Given the description of an element on the screen output the (x, y) to click on. 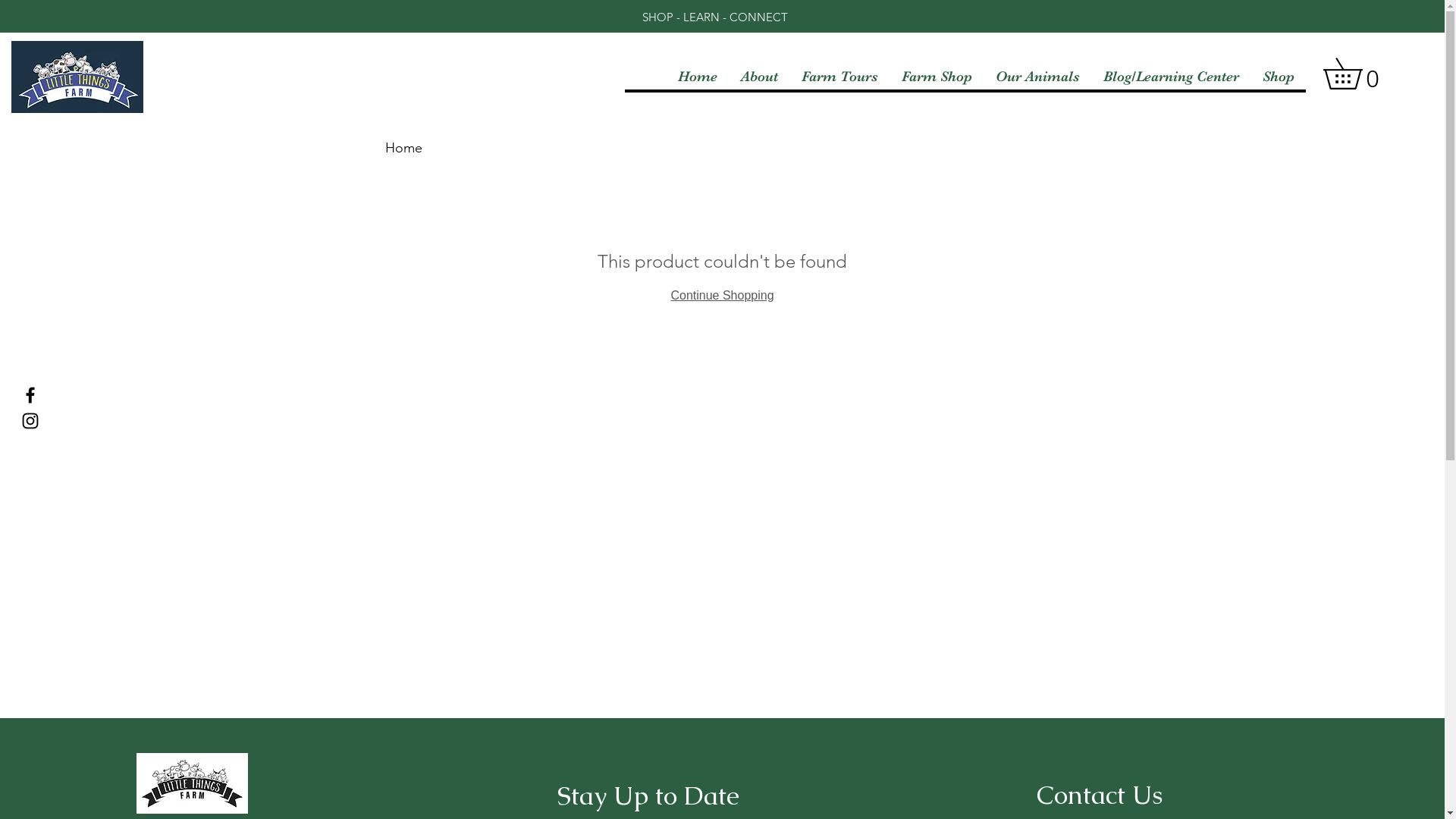
Farm Tours Element type: text (839, 76)
Blog/Learning Center Element type: text (1170, 76)
Our Animals Element type: text (1037, 76)
Home Element type: text (403, 147)
Shop Element type: text (1277, 76)
Farm Shop Element type: text (936, 76)
Continue Shopping Element type: text (721, 294)
0 Element type: text (1357, 73)
Home Element type: text (696, 76)
About Element type: text (758, 76)
